Given the description of an element on the screen output the (x, y) to click on. 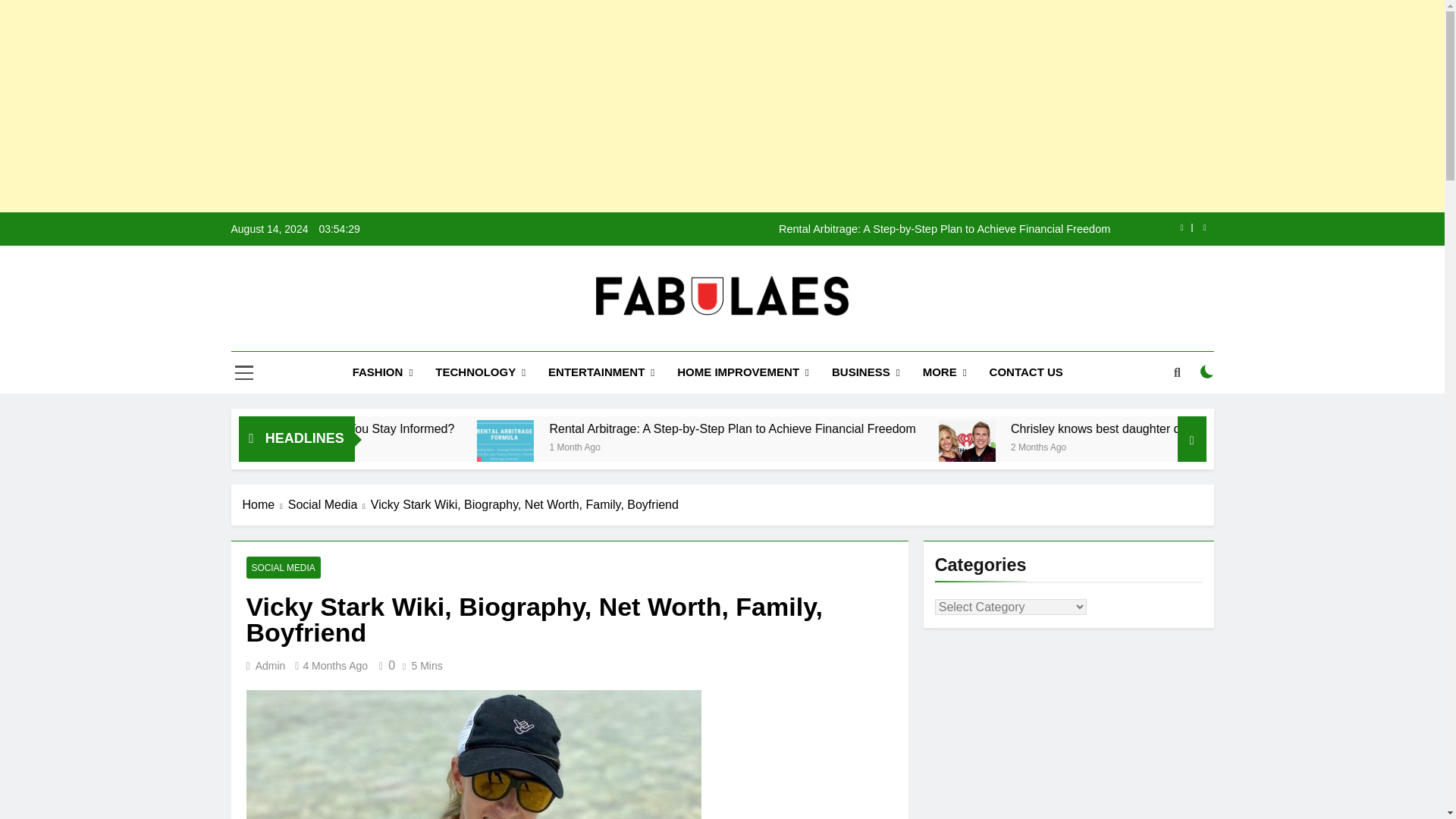
FASHION (382, 372)
TECHNOLOGY (480, 372)
ENTERTAINMENT (601, 372)
Latest feedbuzzard com: How You Stay Informed? (480, 428)
Fabulaes (545, 337)
